Given the description of an element on the screen output the (x, y) to click on. 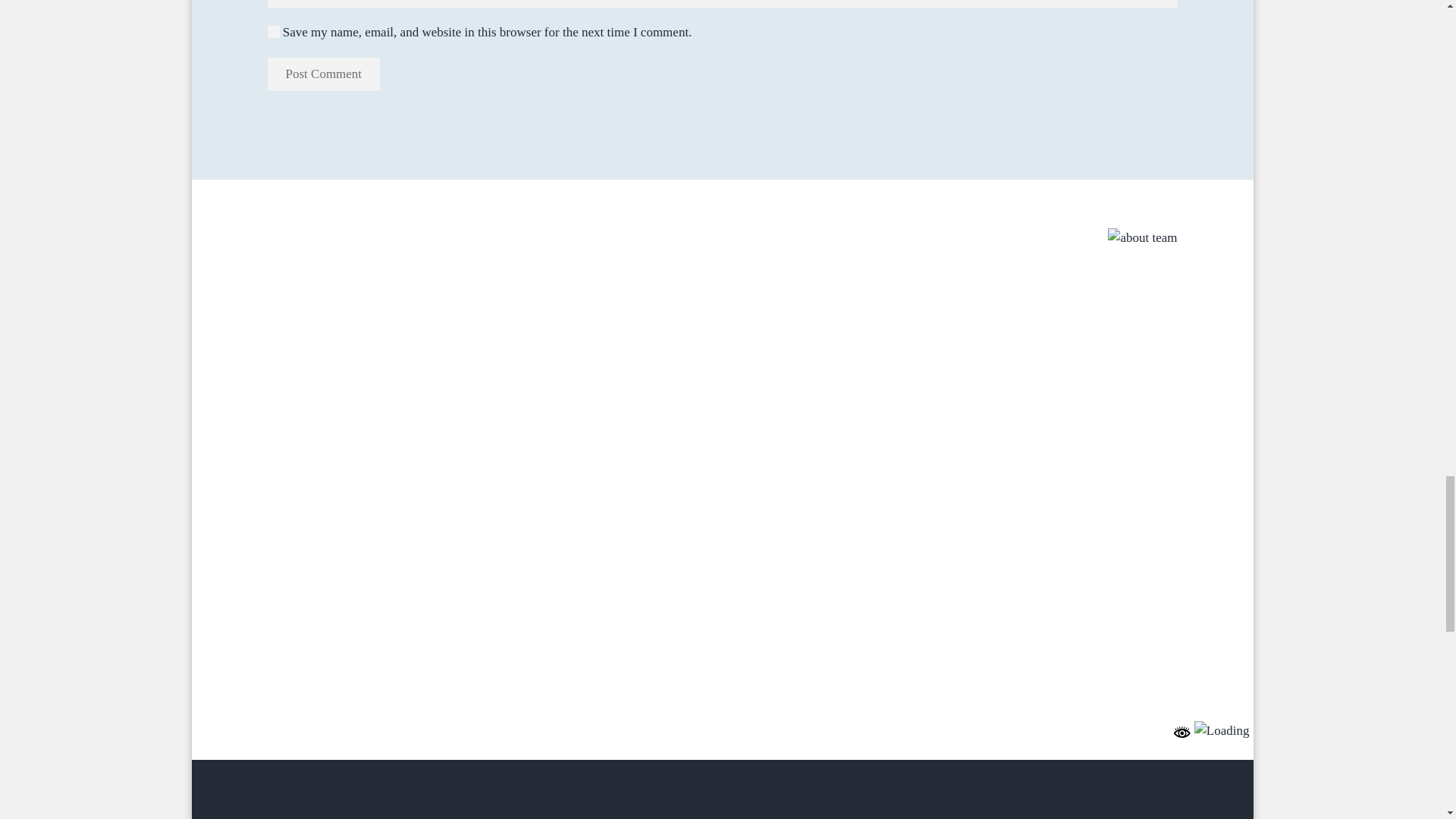
yes (272, 31)
Post Comment (323, 73)
